Given the description of an element on the screen output the (x, y) to click on. 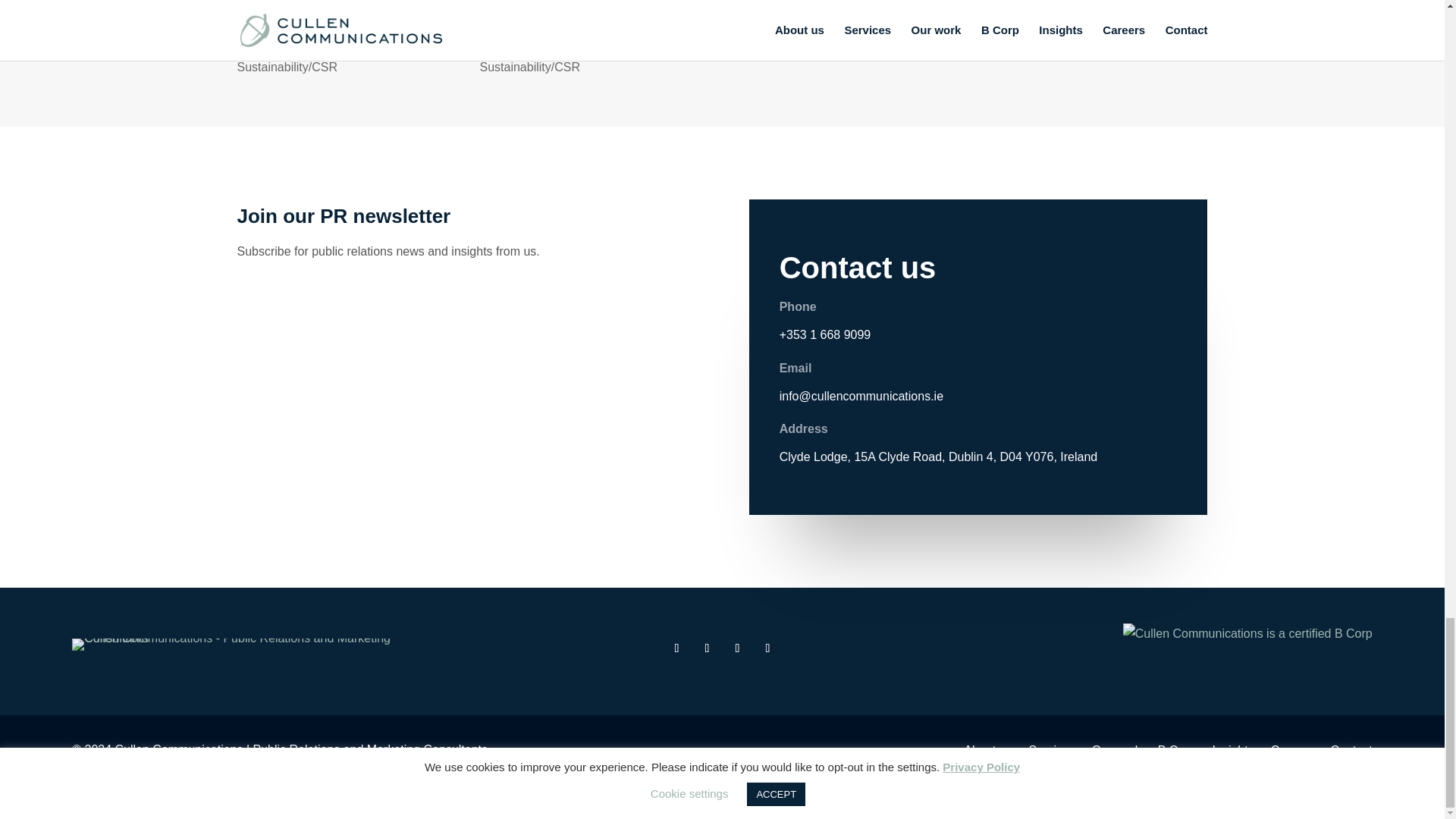
Launch of Lyreco New Premises in Ireland (348, 2)
Applegreen: BioDive Primary Schools Programme (573, 2)
Digital Marketing (379, 22)
Content Creation (524, 22)
Digital Marketing (623, 22)
PR (640, 44)
Launch (255, 44)
Events (450, 22)
Content Creation (767, 22)
PR (829, 22)
Events (450, 22)
Launch (255, 44)
The Good Grub Initiative: Feeding Families in Need (832, 2)
Content Creation (282, 22)
Applegreen: BioDive Primary Schools Programme (573, 2)
